Given the description of an element on the screen output the (x, y) to click on. 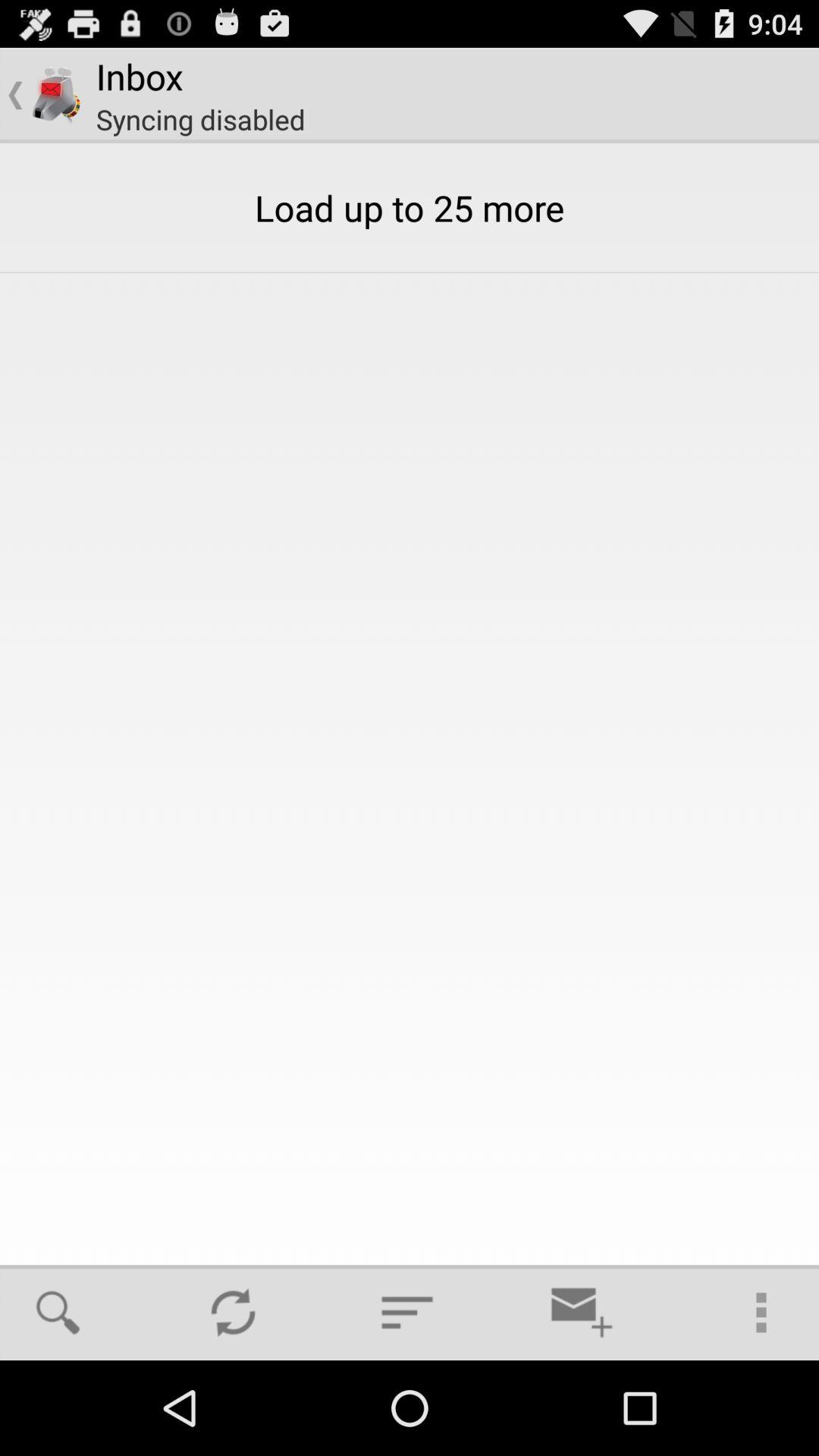
open app below syncing disabled item (72, 1312)
